Given the description of an element on the screen output the (x, y) to click on. 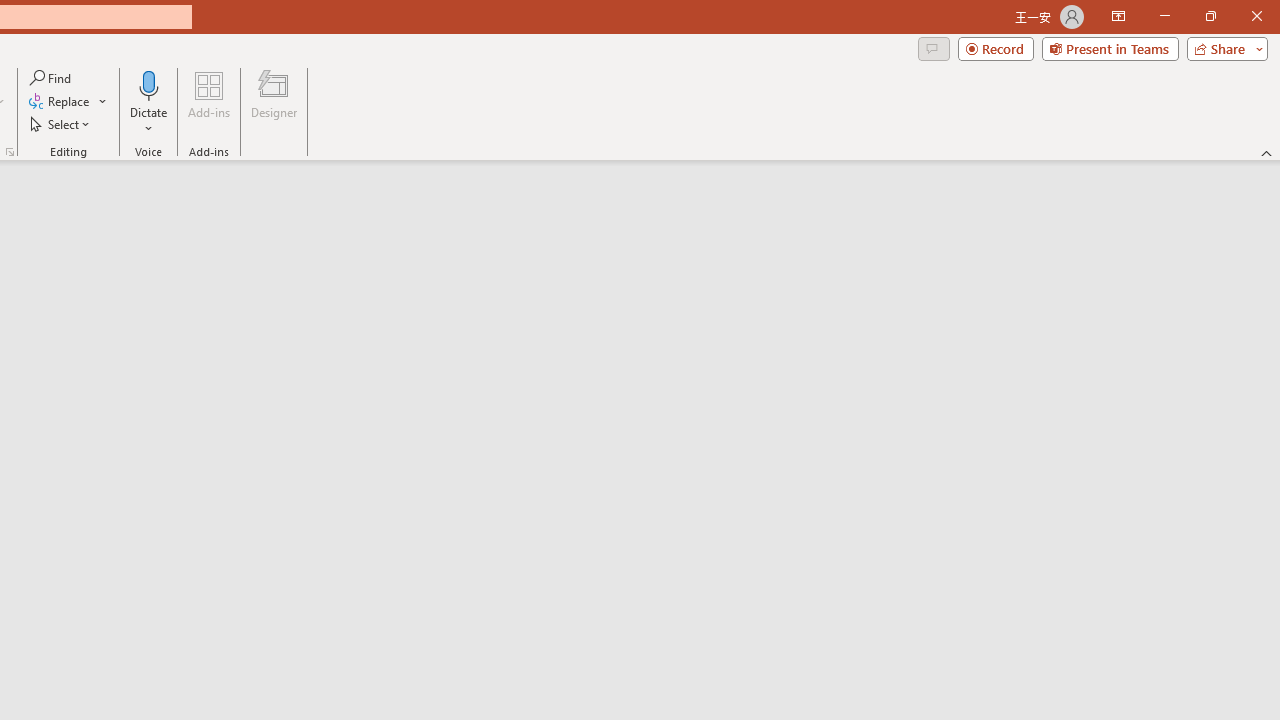
Select (61, 124)
